Given the description of an element on the screen output the (x, y) to click on. 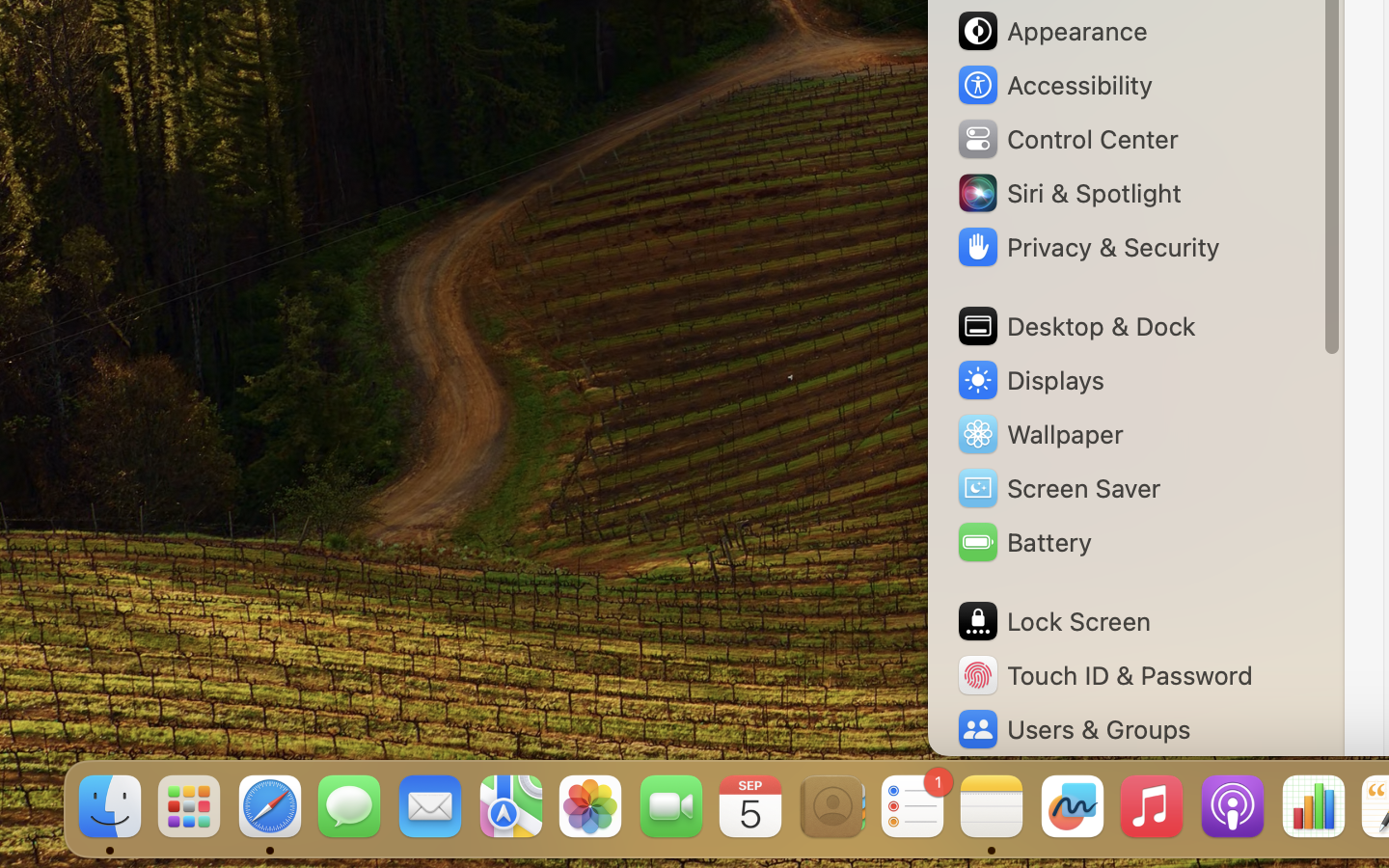
Siri & Spotlight Element type: AXStaticText (1067, 192)
Touch ID & Password Element type: AXStaticText (1103, 674)
Control Center Element type: AXStaticText (1066, 138)
